Given the description of an element on the screen output the (x, y) to click on. 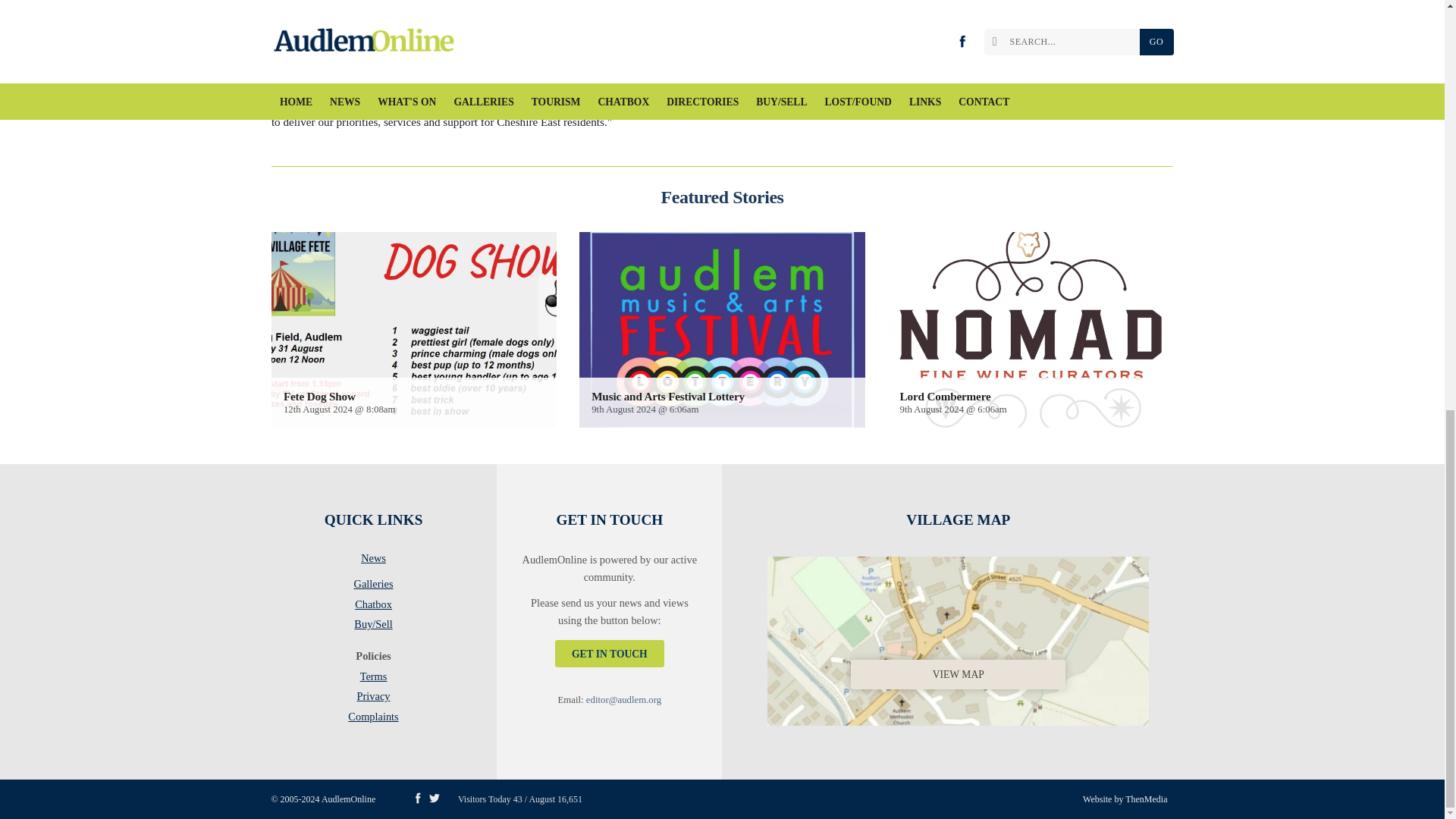
Terms (373, 679)
Visit our X Feed (434, 797)
Visit our Facebook Page (417, 797)
Featured Stories (722, 197)
News (373, 560)
Complaints (373, 716)
Chatbox (373, 607)
Privacy (373, 699)
Galleries (373, 587)
